Given the description of an element on the screen output the (x, y) to click on. 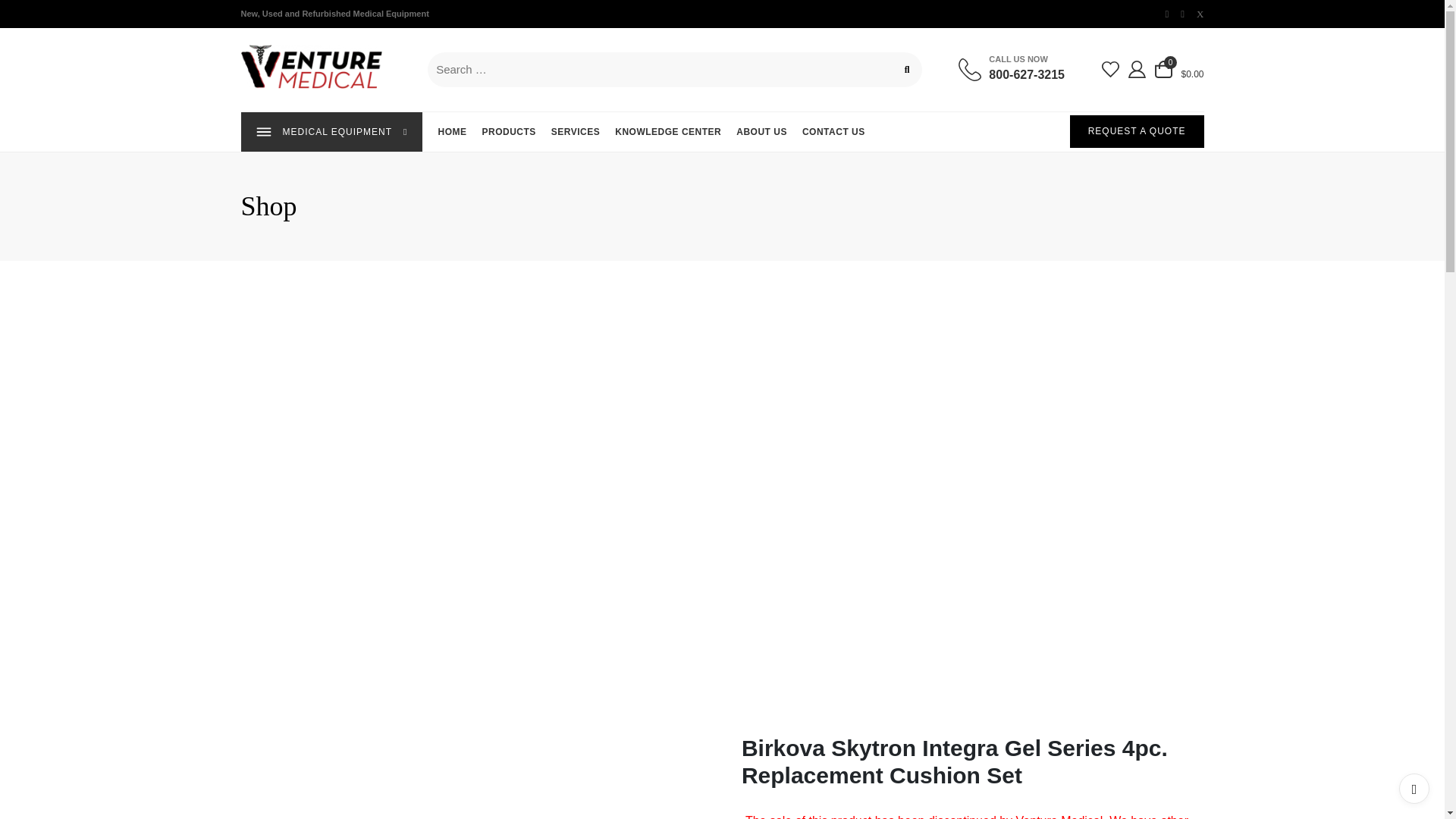
My Account (1136, 68)
MEDICAL EQUIPMENT (332, 131)
Search (1011, 68)
